Given the description of an element on the screen output the (x, y) to click on. 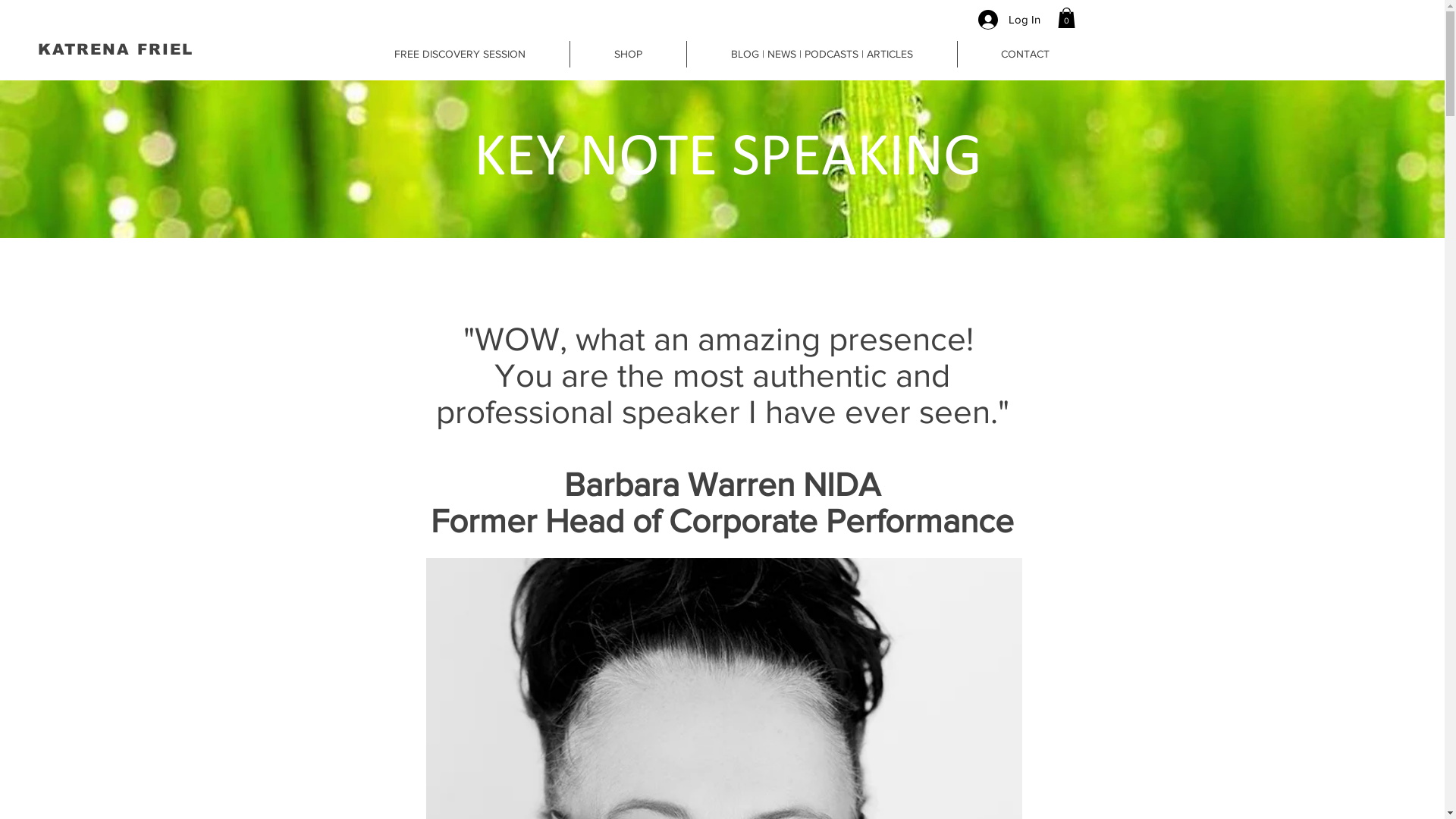
KATRENA FRIEL Element type: text (115, 48)
CONTACT Element type: text (1025, 53)
SHOP Element type: text (626, 53)
BLOG | NEWS | PODCASTS | ARTICLES Element type: text (820, 53)
0 Element type: text (1065, 17)
FREE DISCOVERY SESSION Element type: text (459, 53)
Log In Element type: text (1009, 18)
